Given the description of an element on the screen output the (x, y) to click on. 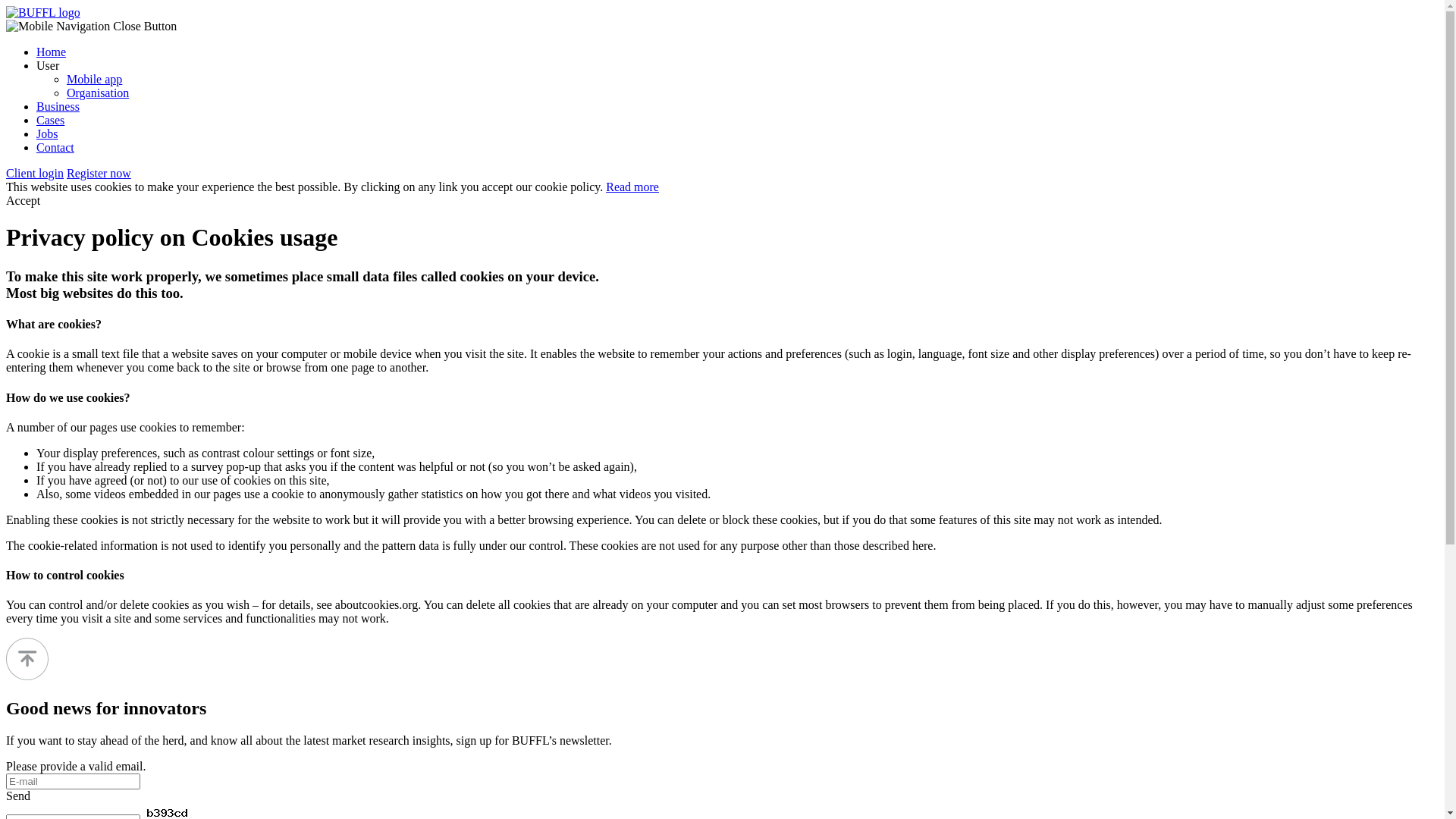
Jobs Element type: text (46, 133)
Mobile app Element type: text (94, 78)
Contact Element type: text (55, 147)
Client login Element type: text (34, 172)
Home Element type: text (50, 51)
Organisation Element type: text (97, 92)
Read more Element type: text (631, 186)
Business Element type: text (57, 106)
Register now Element type: text (98, 172)
User Element type: text (47, 65)
Cases Element type: text (50, 119)
